Given the description of an element on the screen output the (x, y) to click on. 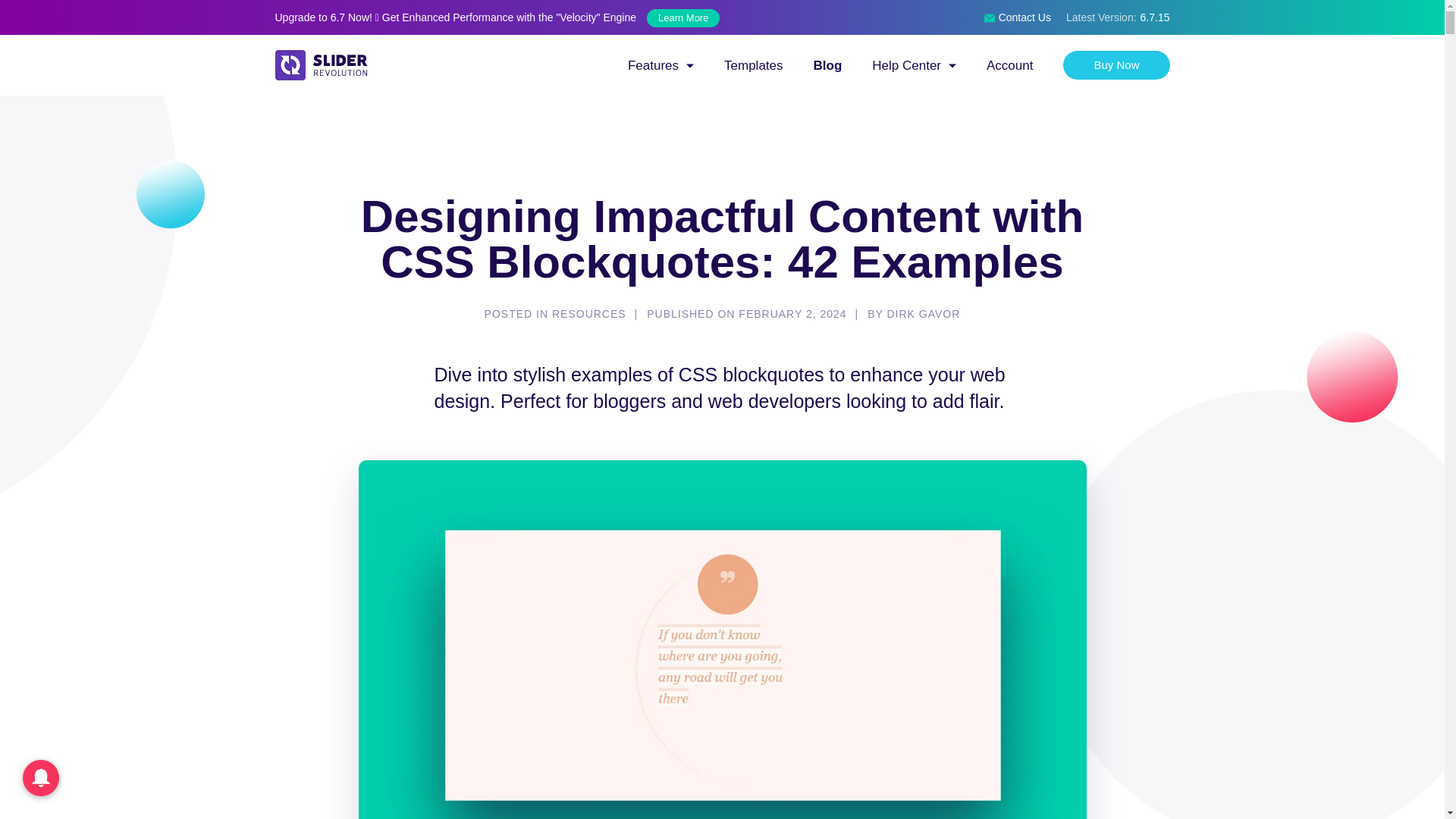
Learn More (679, 17)
Templates (753, 64)
Features (660, 64)
Help Center (914, 64)
Learn More (682, 18)
Contact Us (1017, 17)
Blog (828, 64)
Slider Revolution (456, 77)
6.7.15 (1153, 17)
